Given the description of an element on the screen output the (x, y) to click on. 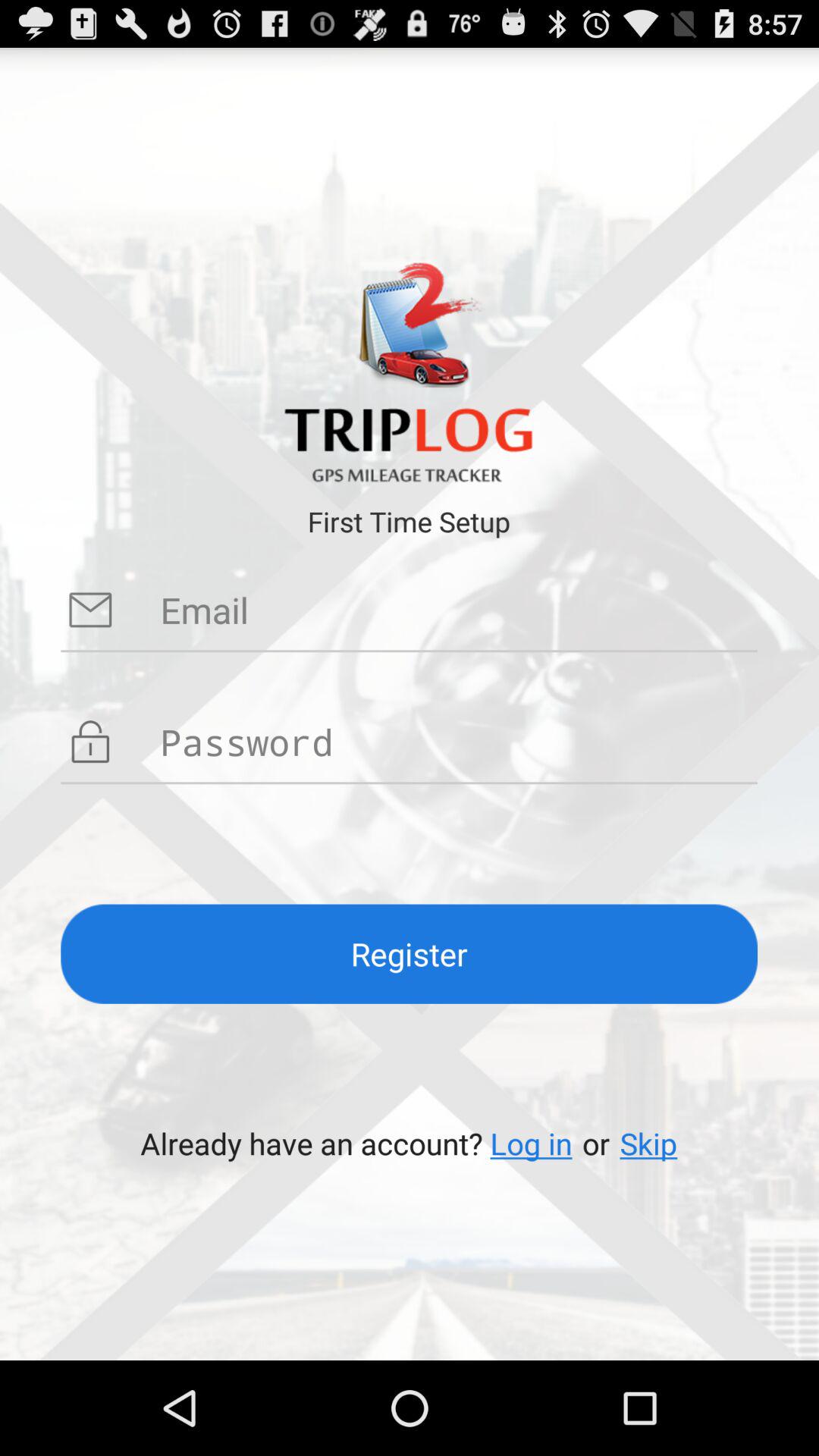
turn on the item to the left of or app (531, 1143)
